Given the description of an element on the screen output the (x, y) to click on. 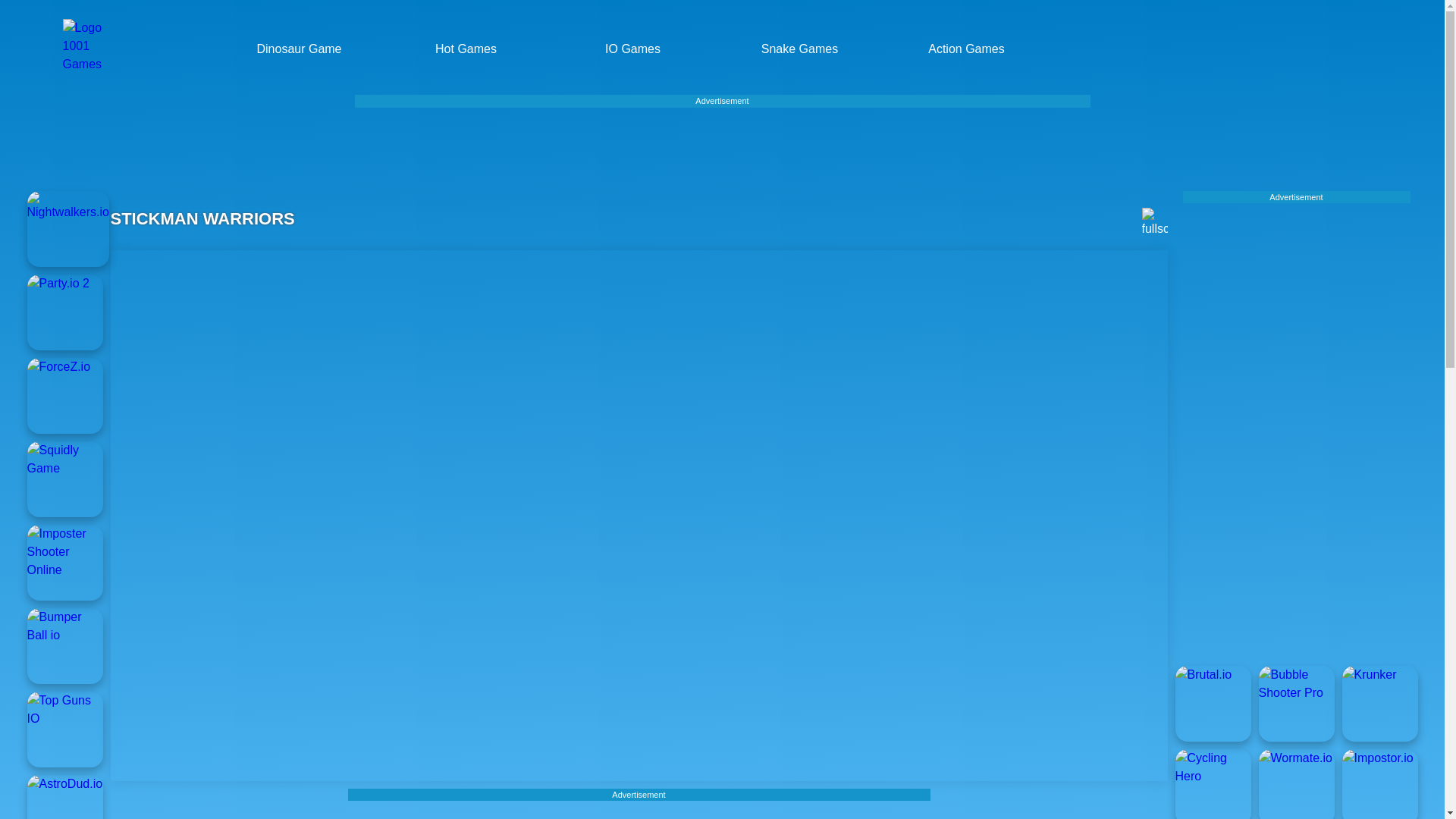
Snake Games (805, 48)
IO Games (639, 48)
Nightwalkers.io (68, 228)
Brutal.io (1212, 703)
Cycling Hero (1212, 784)
ForceZ.io (65, 395)
AstroDud.io (65, 796)
Krunker (1380, 703)
Hot Games (472, 48)
Dinosaur Game (305, 48)
Bubble Shooter Pro (1297, 703)
Bumper Ball io (65, 645)
Imposter Shooter Online (65, 562)
Party.io 2 (65, 312)
